Given the description of an element on the screen output the (x, y) to click on. 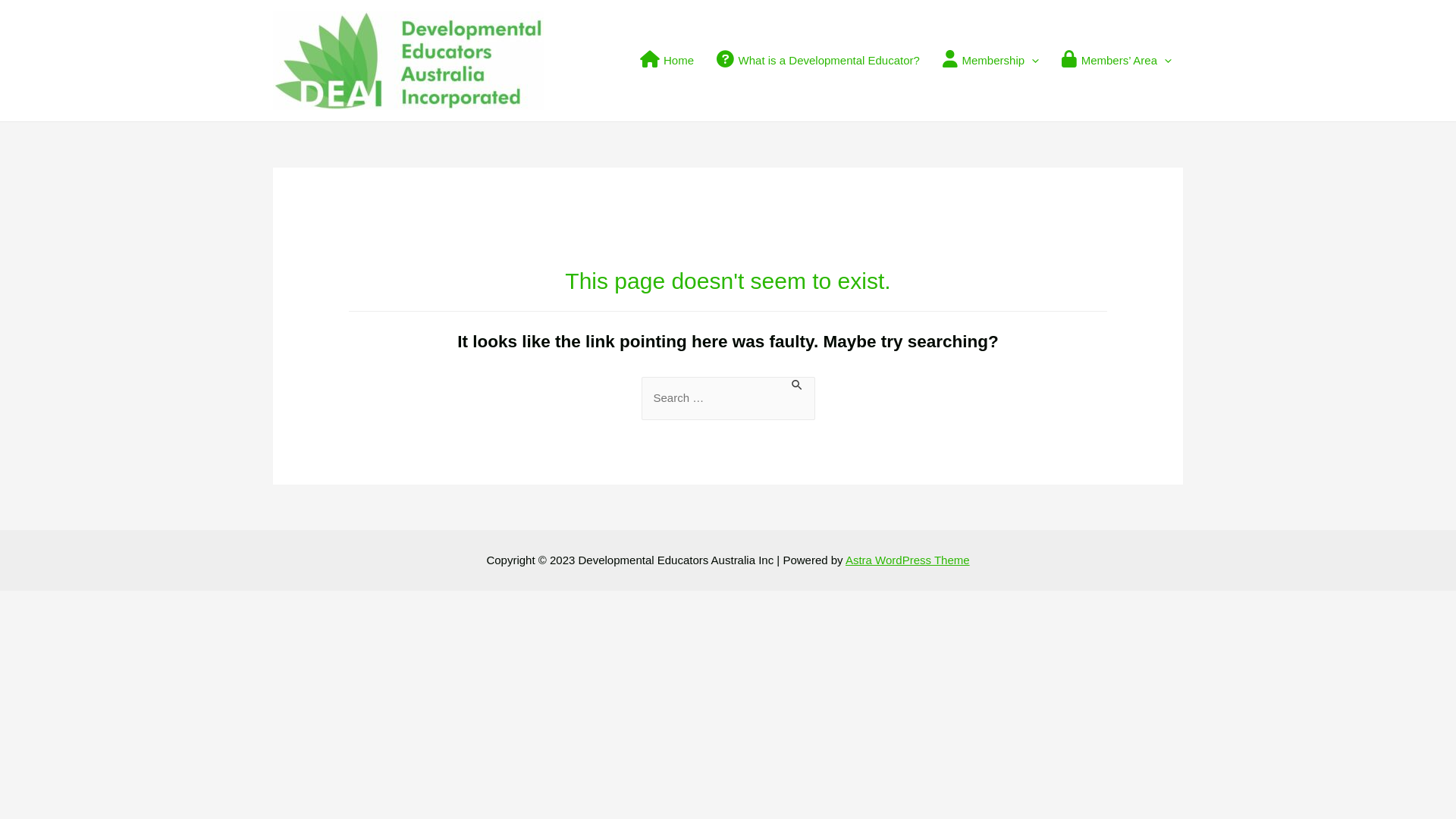
Astra WordPress Theme Element type: text (907, 559)
What is a Developmental Educator? Element type: text (818, 60)
Search Element type: text (851, 391)
Membership Element type: text (990, 60)
Home Element type: text (666, 60)
